Given the description of an element on the screen output the (x, y) to click on. 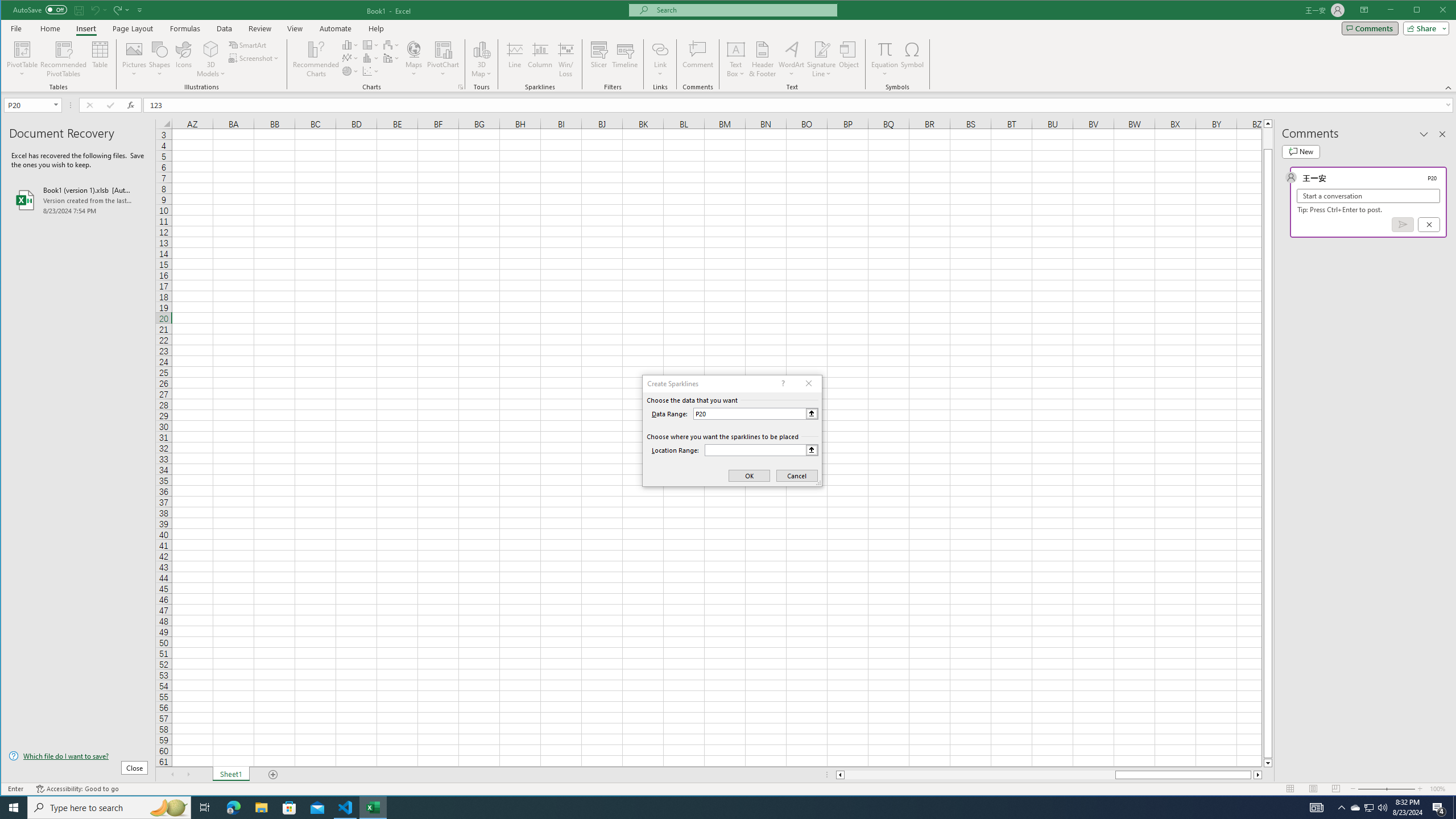
Icons (183, 59)
Link (659, 48)
Start a conversation (1368, 195)
Page up (1267, 138)
Column (540, 59)
Insert Waterfall, Funnel, Stock, Surface, or Radar Chart (391, 44)
Insert Statistic Chart (371, 57)
